Given the description of an element on the screen output the (x, y) to click on. 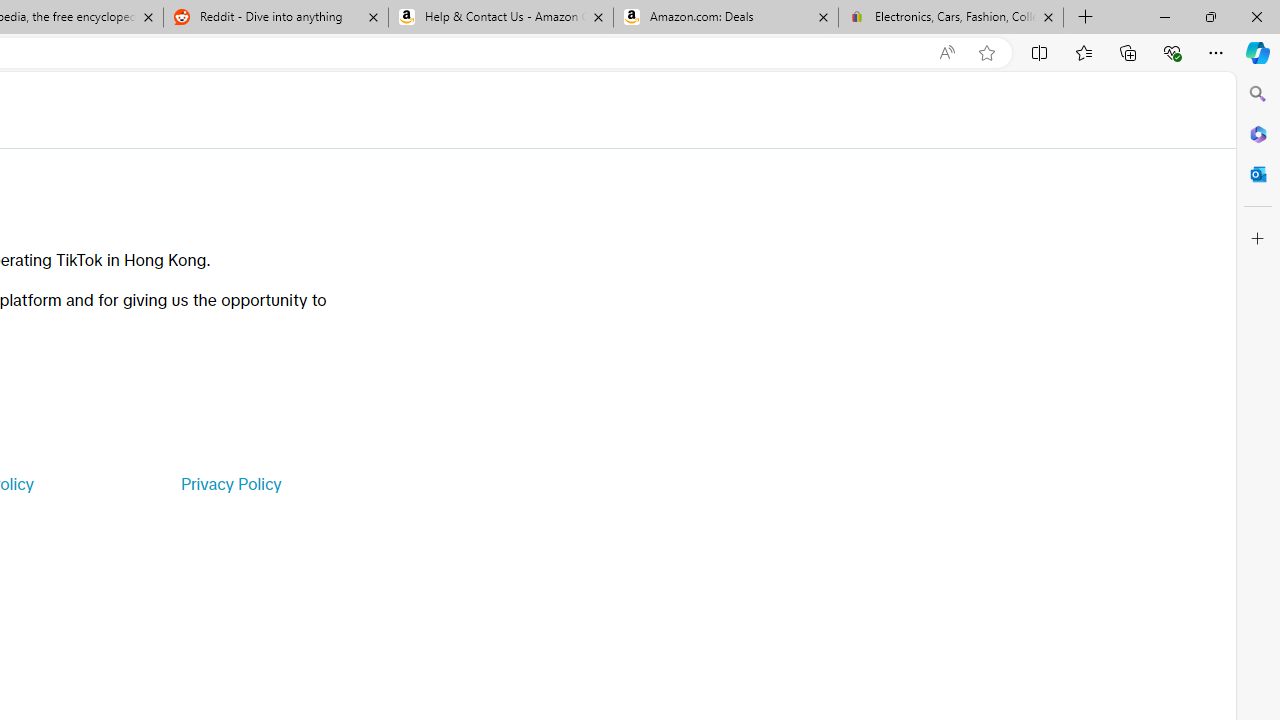
Privacy Policy (230, 484)
Amazon.com: Deals (726, 17)
